Given the description of an element on the screen output the (x, y) to click on. 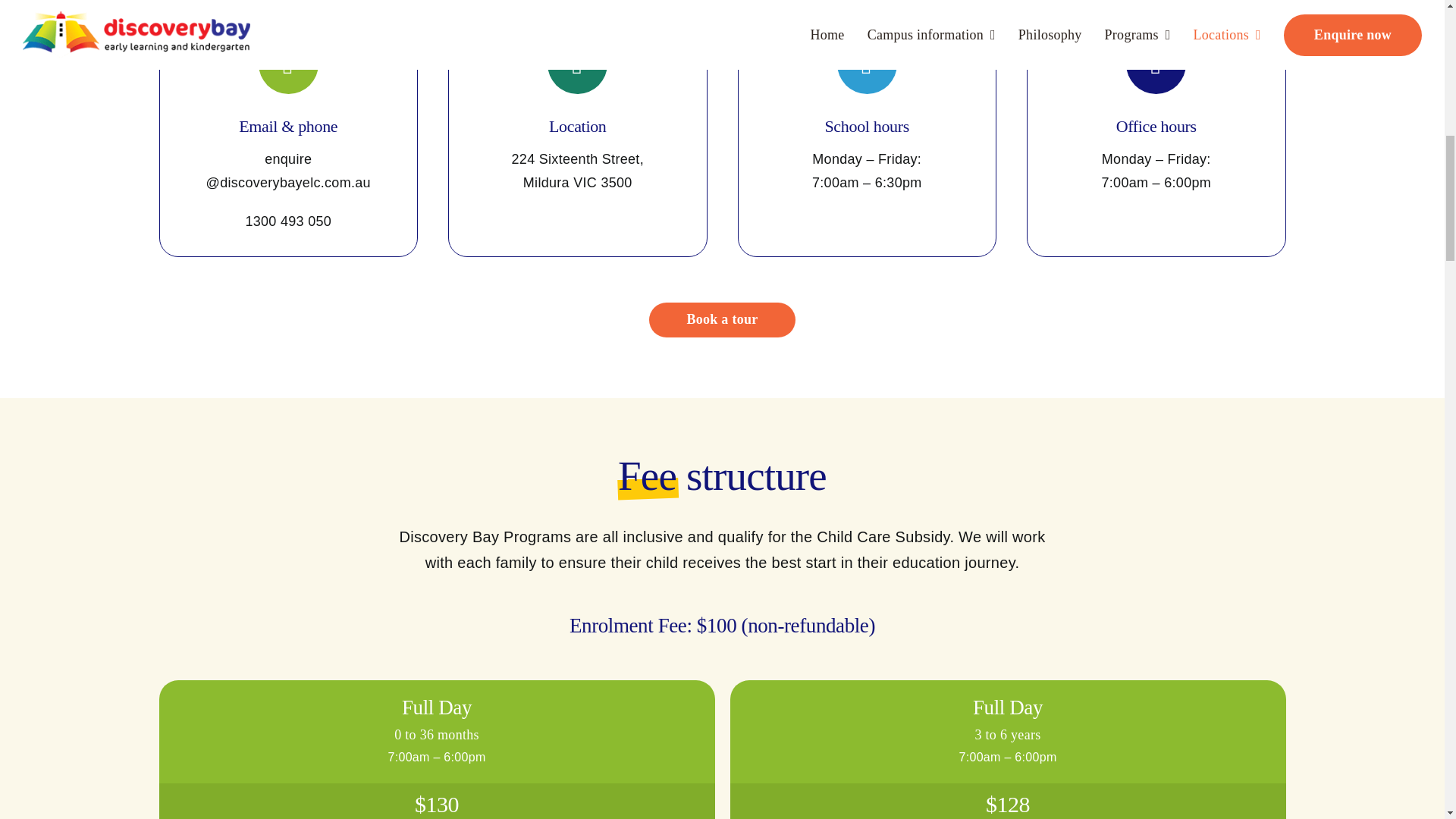
Book a tour (722, 319)
1300 493 050 (287, 221)
